Given the description of an element on the screen output the (x, y) to click on. 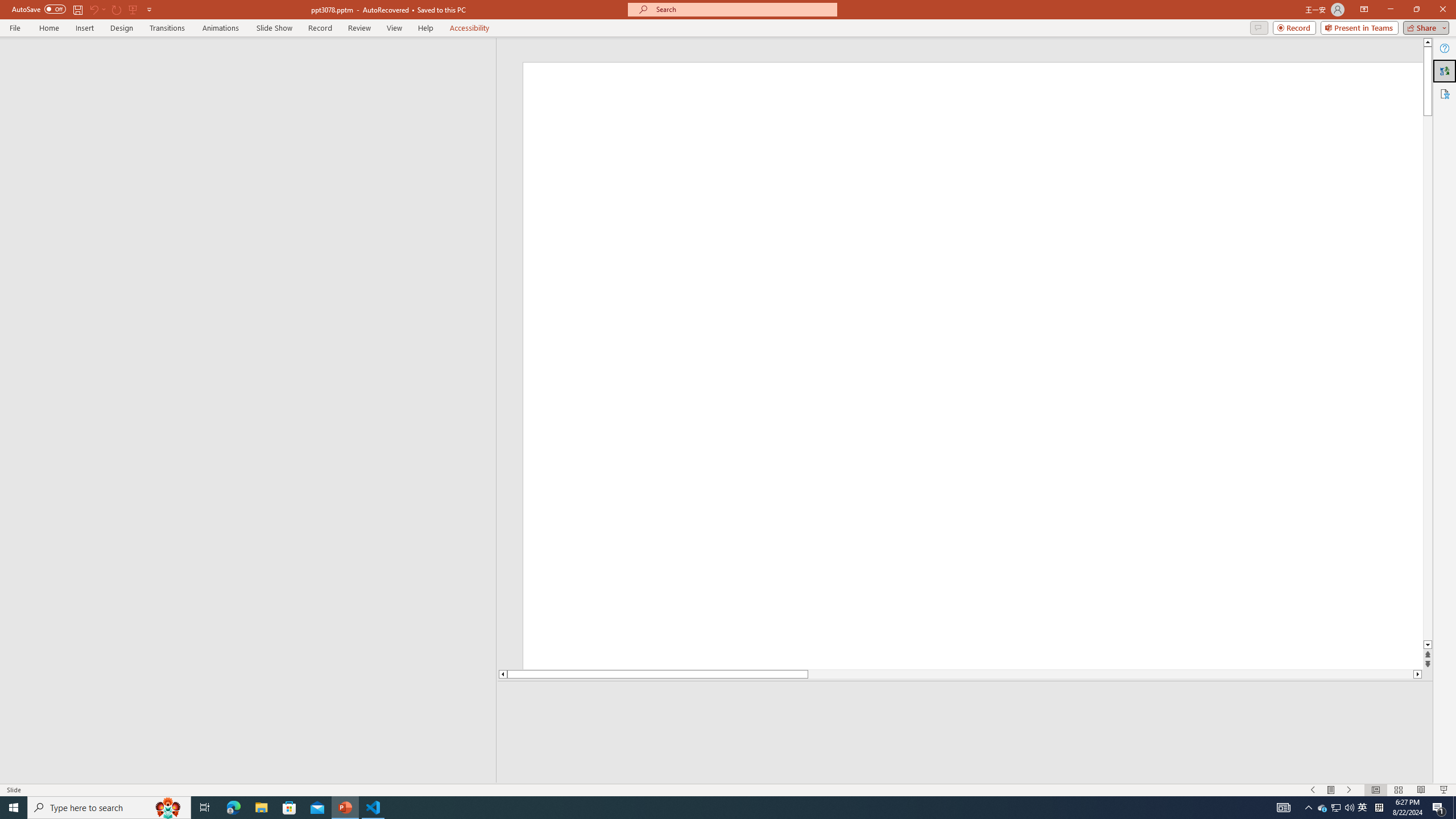
Slide Show Previous On (1313, 790)
Slide Show Next On (1349, 790)
